Given the description of an element on the screen output the (x, y) to click on. 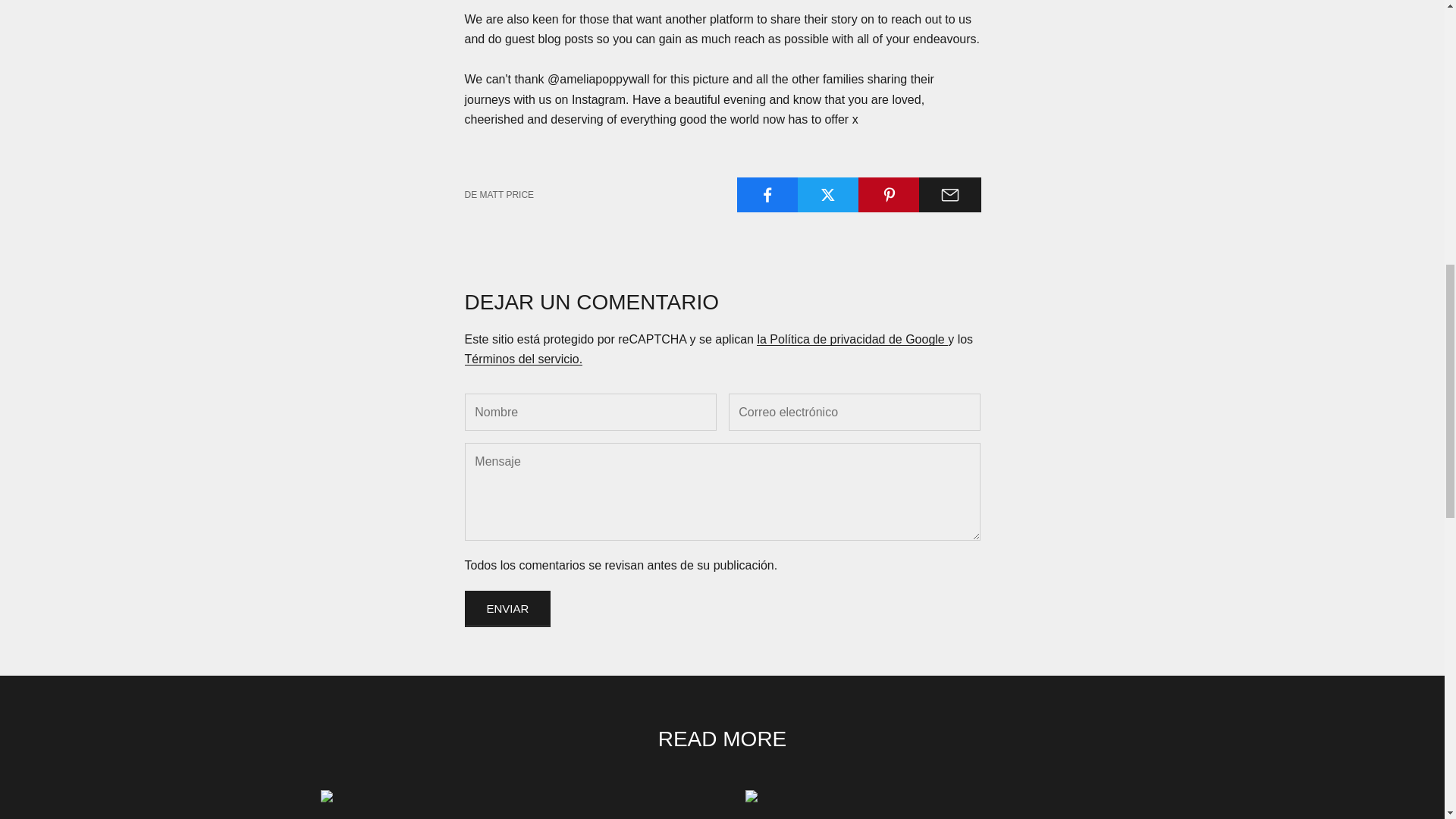
ENVIAR (507, 608)
